Given the description of an element on the screen output the (x, y) to click on. 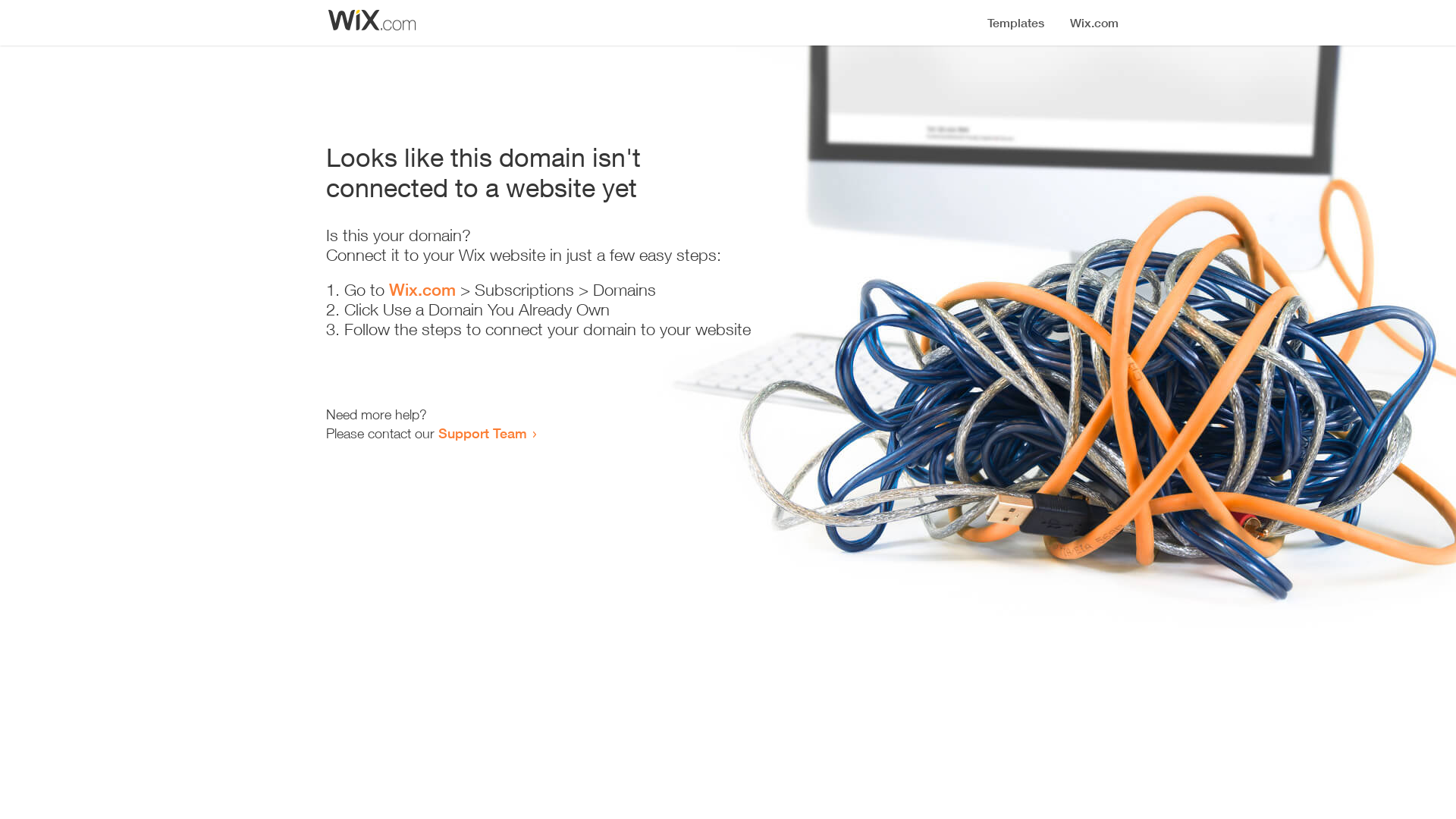
Wix.com Element type: text (422, 289)
Support Team Element type: text (482, 432)
